Given the description of an element on the screen output the (x, y) to click on. 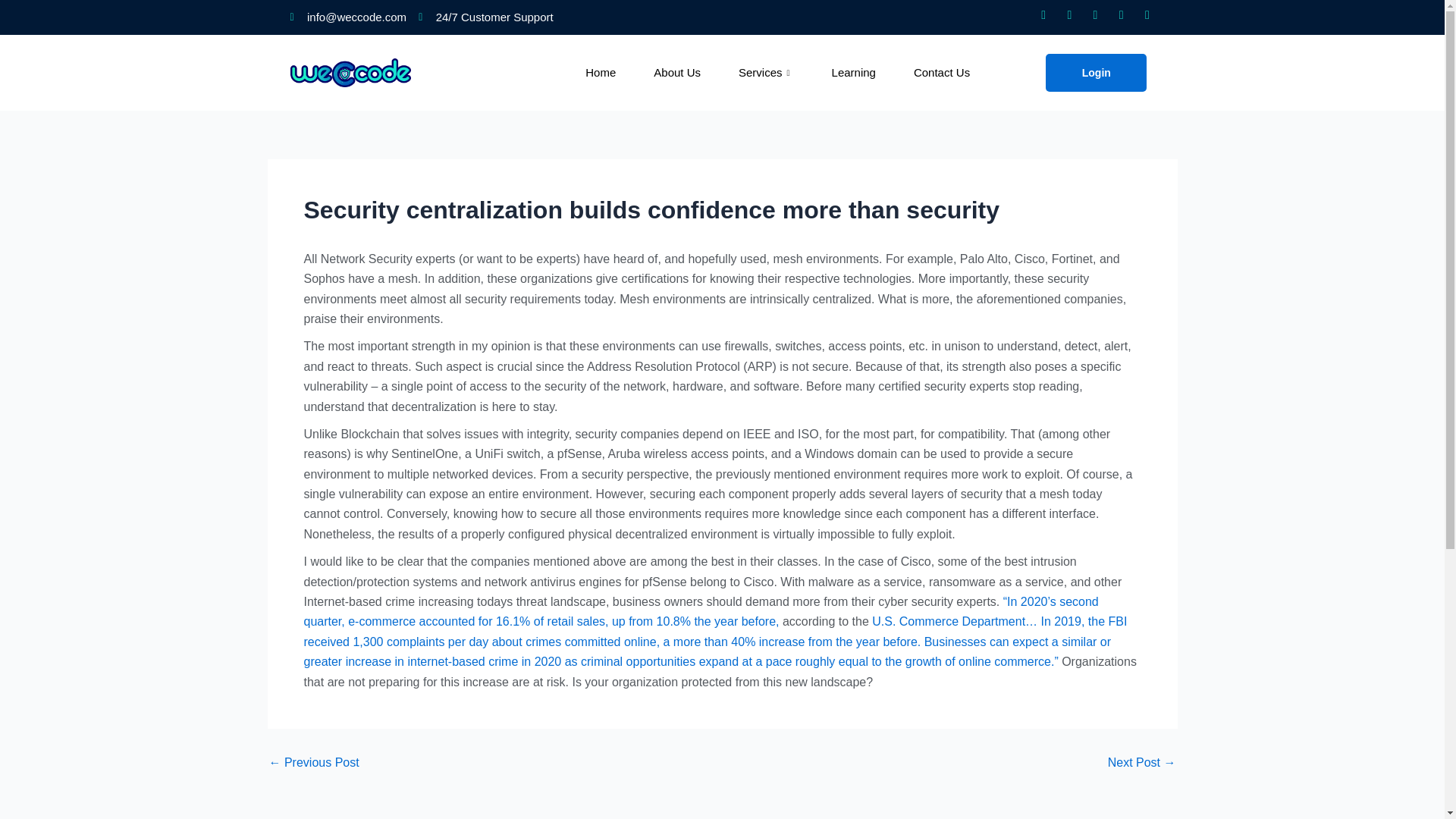
Services (784, 72)
About Us (695, 72)
Home (619, 72)
Cyber Security (312, 762)
Github (1094, 14)
Whatsapp (1043, 14)
Linkedin-in (1069, 14)
Youtube (1147, 14)
Bitbucket (1120, 14)
